Given the description of an element on the screen output the (x, y) to click on. 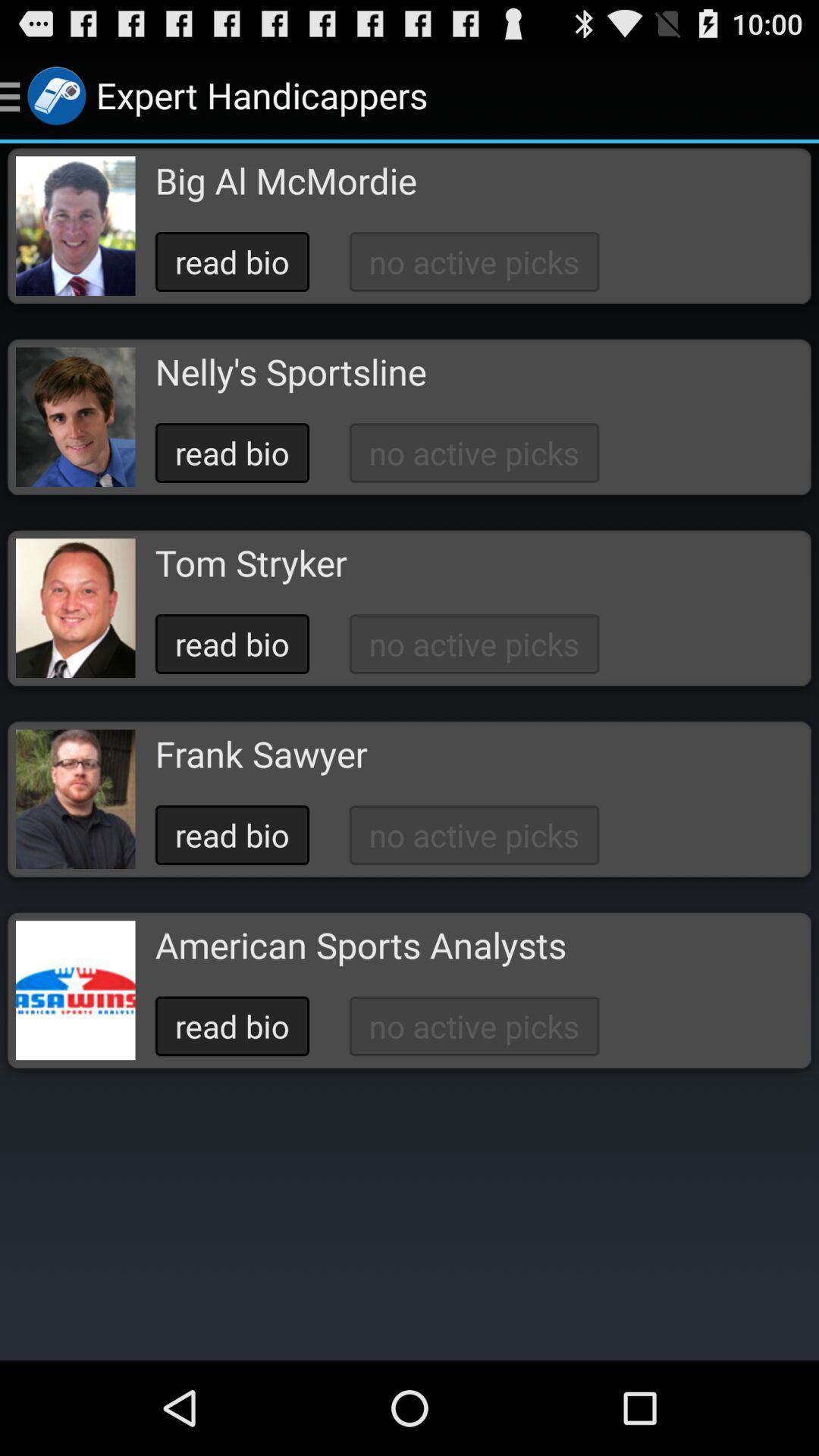
open button above the read bio (261, 753)
